Given the description of an element on the screen output the (x, y) to click on. 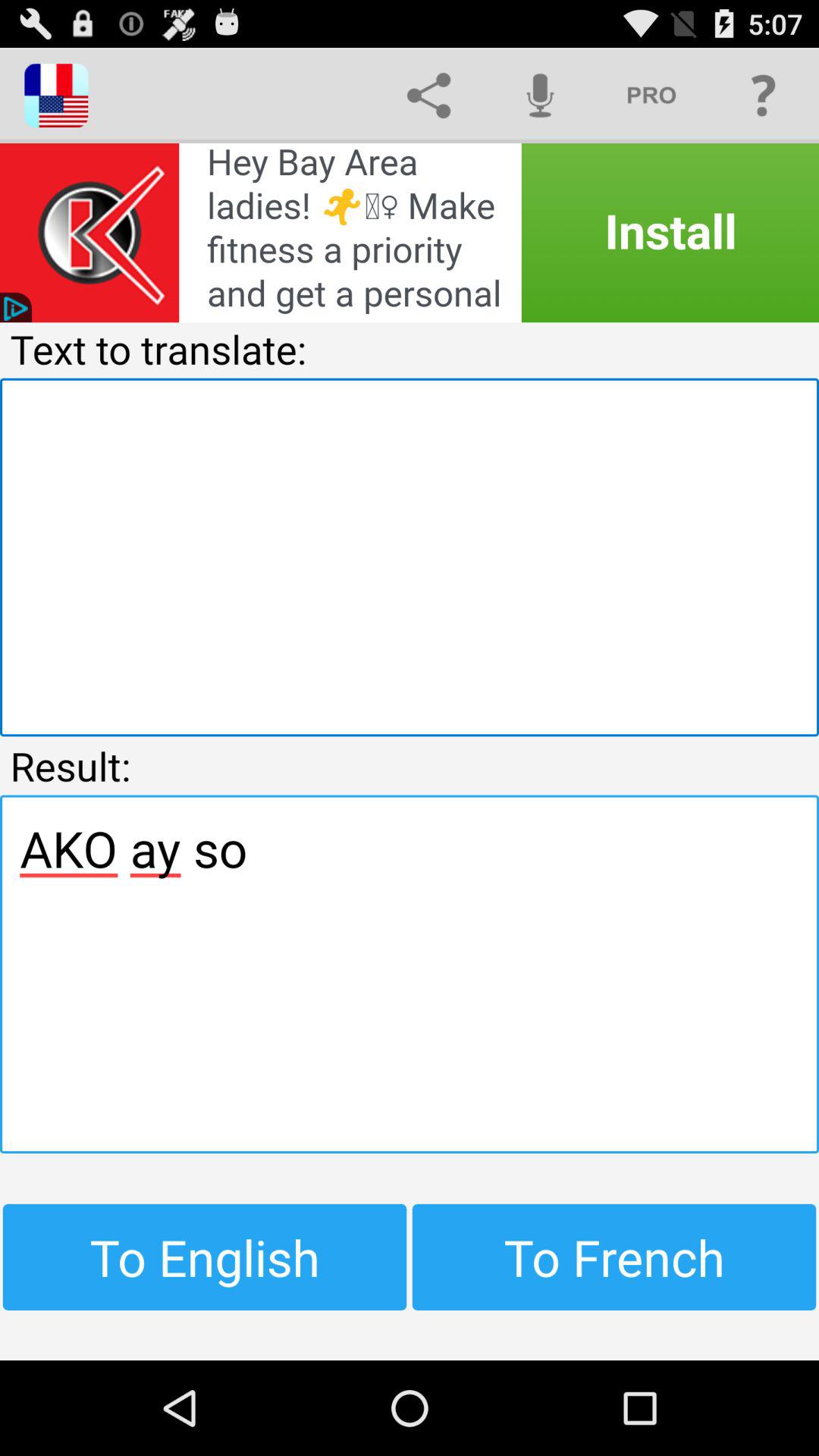
open to english button (204, 1257)
